Given the description of an element on the screen output the (x, y) to click on. 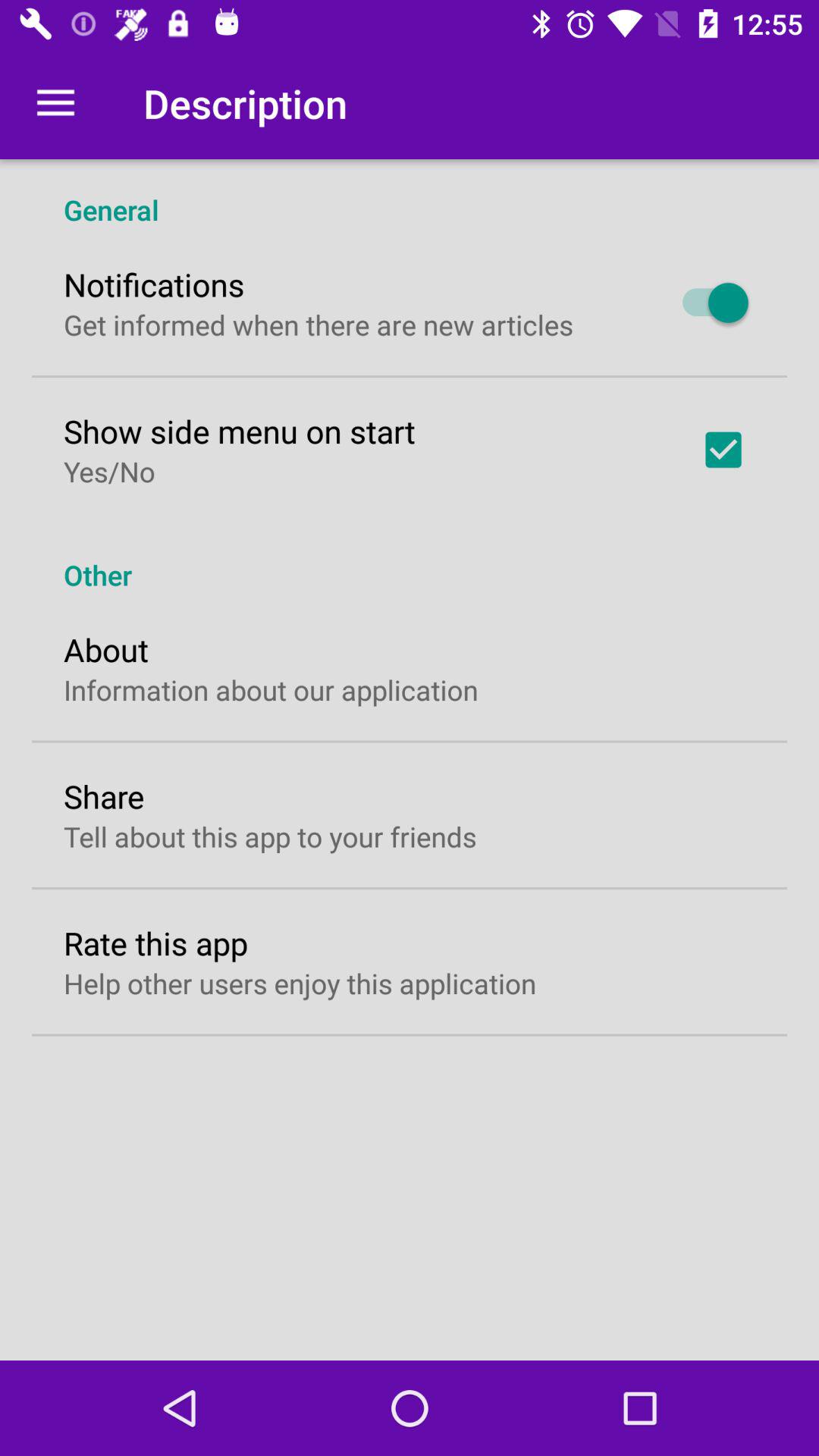
select the icon above the notifications item (409, 193)
